Given the description of an element on the screen output the (x, y) to click on. 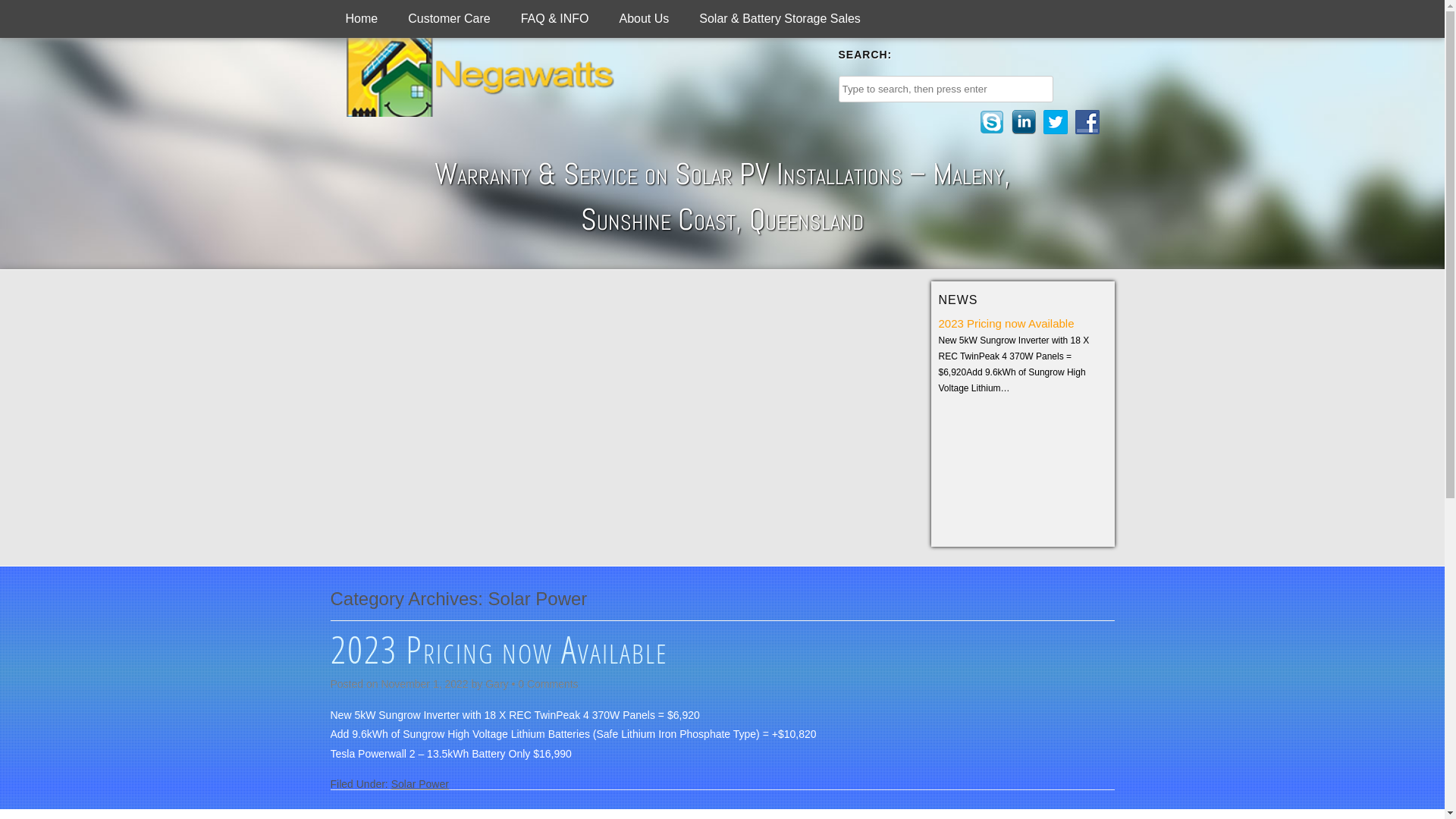
About Us Element type: text (643, 18)
Home Element type: text (361, 18)
2023 Pricing now Available Element type: text (1006, 322)
Solar & Battery Storage Sales Element type: text (779, 18)
Search Element type: text (23, 10)
FAQ & INFO Element type: text (554, 18)
0 Comments Element type: text (547, 683)
Follow Us on Skype Element type: hover (991, 121)
Follow Us on Facebook Element type: hover (1087, 121)
Gary Element type: text (496, 683)
Type to search, then press enter Element type: text (945, 88)
Follow Us on LinkedIn Element type: hover (1023, 121)
Customer Care Element type: text (448, 18)
Follow Us on Twitter Element type: hover (1055, 121)
Solar Power Element type: text (419, 784)
2023 Pricing now Available Element type: text (498, 648)
